Given the description of an element on the screen output the (x, y) to click on. 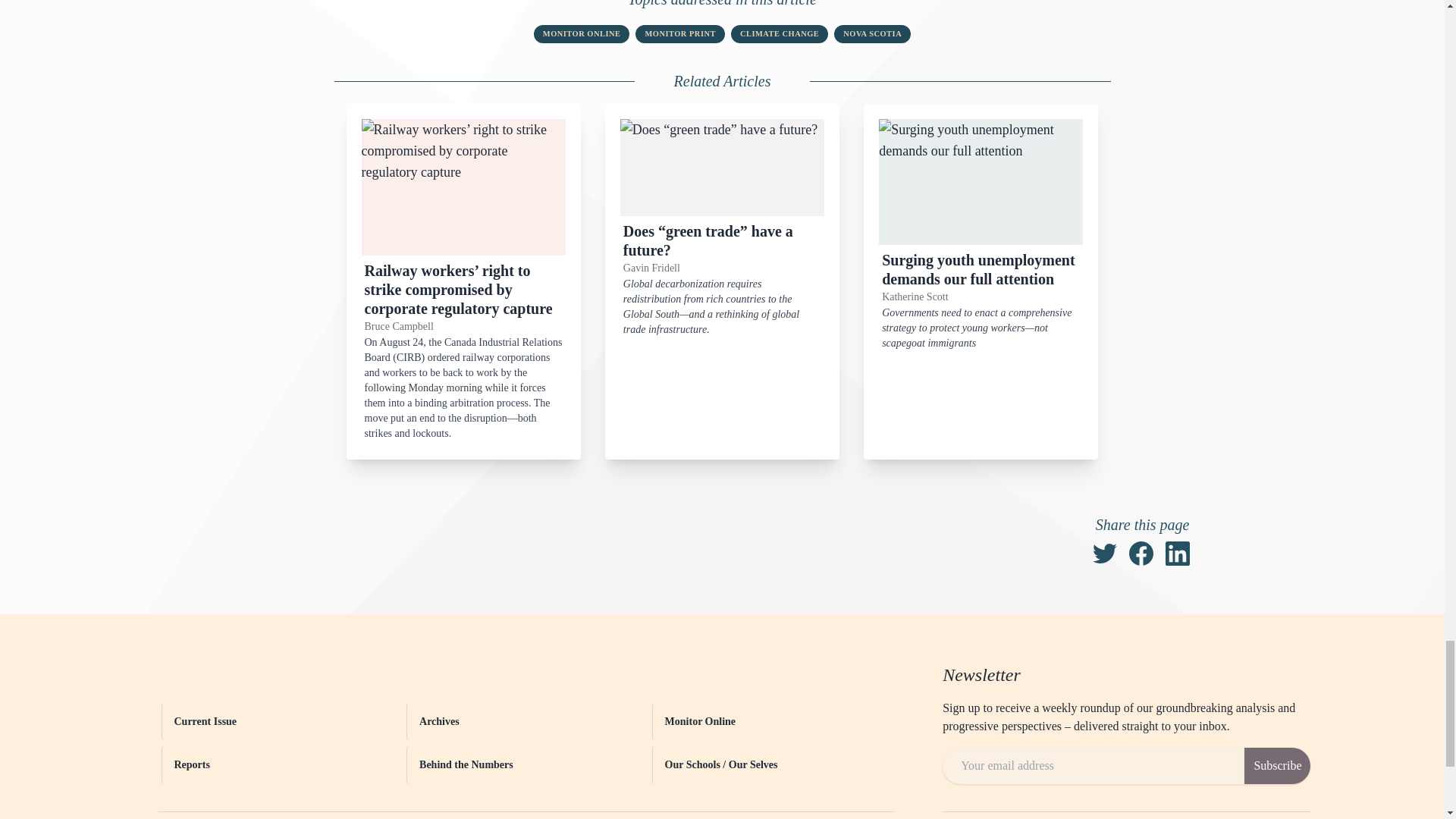
Subscribe (1277, 765)
Share on LinkedIn (1176, 553)
Share on Facebook (1140, 553)
Tweet (1104, 553)
